Given the description of an element on the screen output the (x, y) to click on. 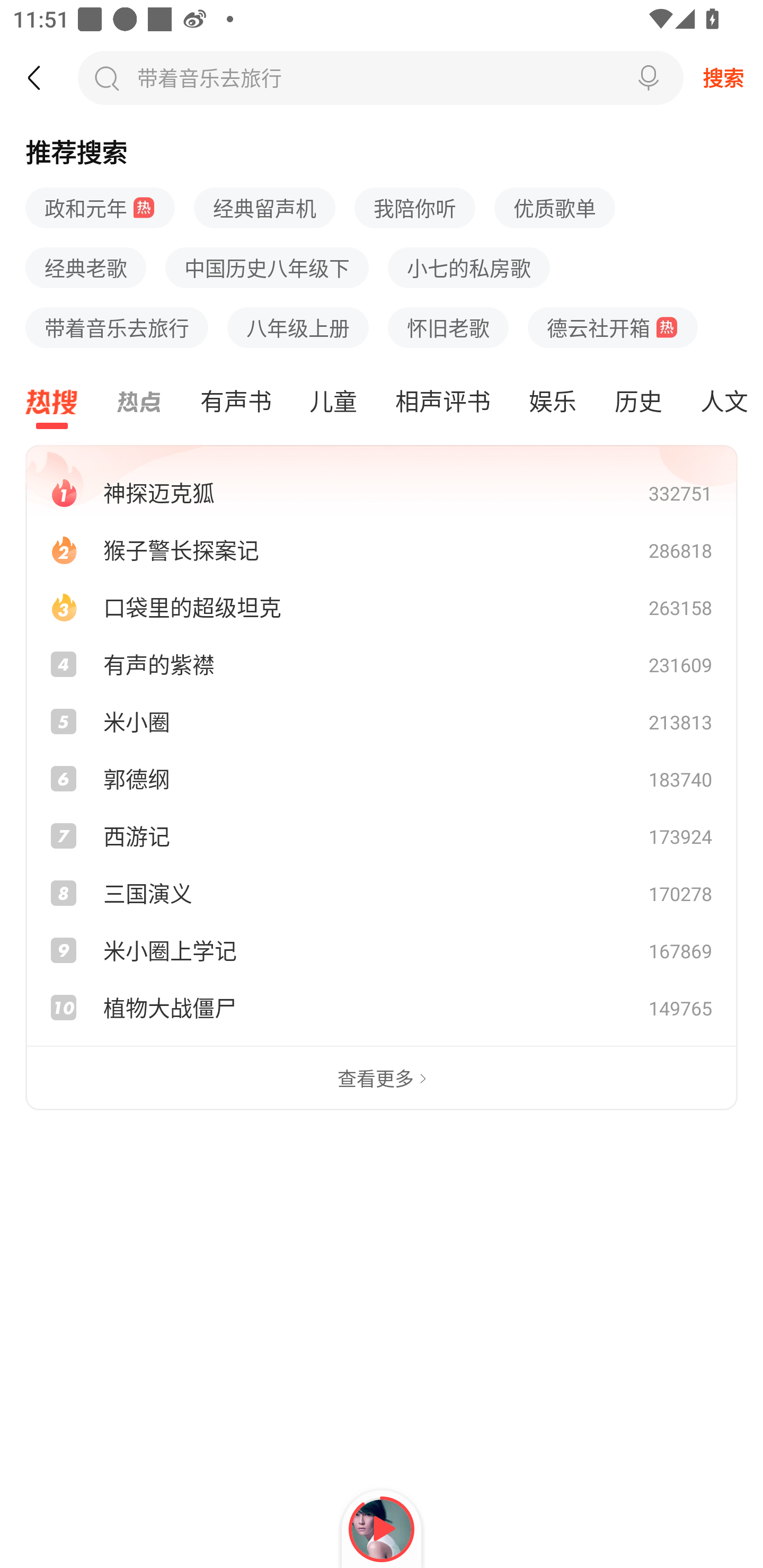
返回 (43, 77)
已经选择搜索功能,当前搜索框内容为带着音乐去旅行  带着音乐去旅行 语音搜索 (380, 77)
语音搜索 (648, 77)
搜索 (723, 77)
 带着音乐去旅行 (206, 77)
政和元年 (99, 208)
经典留声机 (264, 208)
我陪你听 (414, 208)
优质歌单 (554, 208)
经典老歌 (85, 267)
中国历史八年级下 (266, 267)
小七的私房歌 (468, 267)
带着音乐去旅行 (116, 327)
八年级上册 (297, 327)
怀旧老歌 (447, 327)
德云社开箱 (612, 327)
热搜 (51, 401)
热点 (138, 401)
有声书 (235, 401)
儿童 (333, 401)
相声评书 (442, 401)
娱乐 (552, 401)
历史 (638, 401)
人文 (722, 401)
1 神探迈克狐 332751 (381, 492)
2 猴子警长探案记 286818 (381, 549)
3 口袋里的超级坦克 263158 (381, 606)
4 有声的紫襟 231609 (381, 664)
5 米小圈 213813 (381, 721)
6 郭德纲 183740 (381, 778)
7 西游记 173924 (381, 835)
8 三国演义 170278 (381, 892)
9 米小圈上学记 167869 (381, 949)
10 植物大战僵尸 149765 (381, 1007)
查看更多 (381, 1078)
继续播放Alpha-橘子海OrangeOcean (381, 1529)
